Given the description of an element on the screen output the (x, y) to click on. 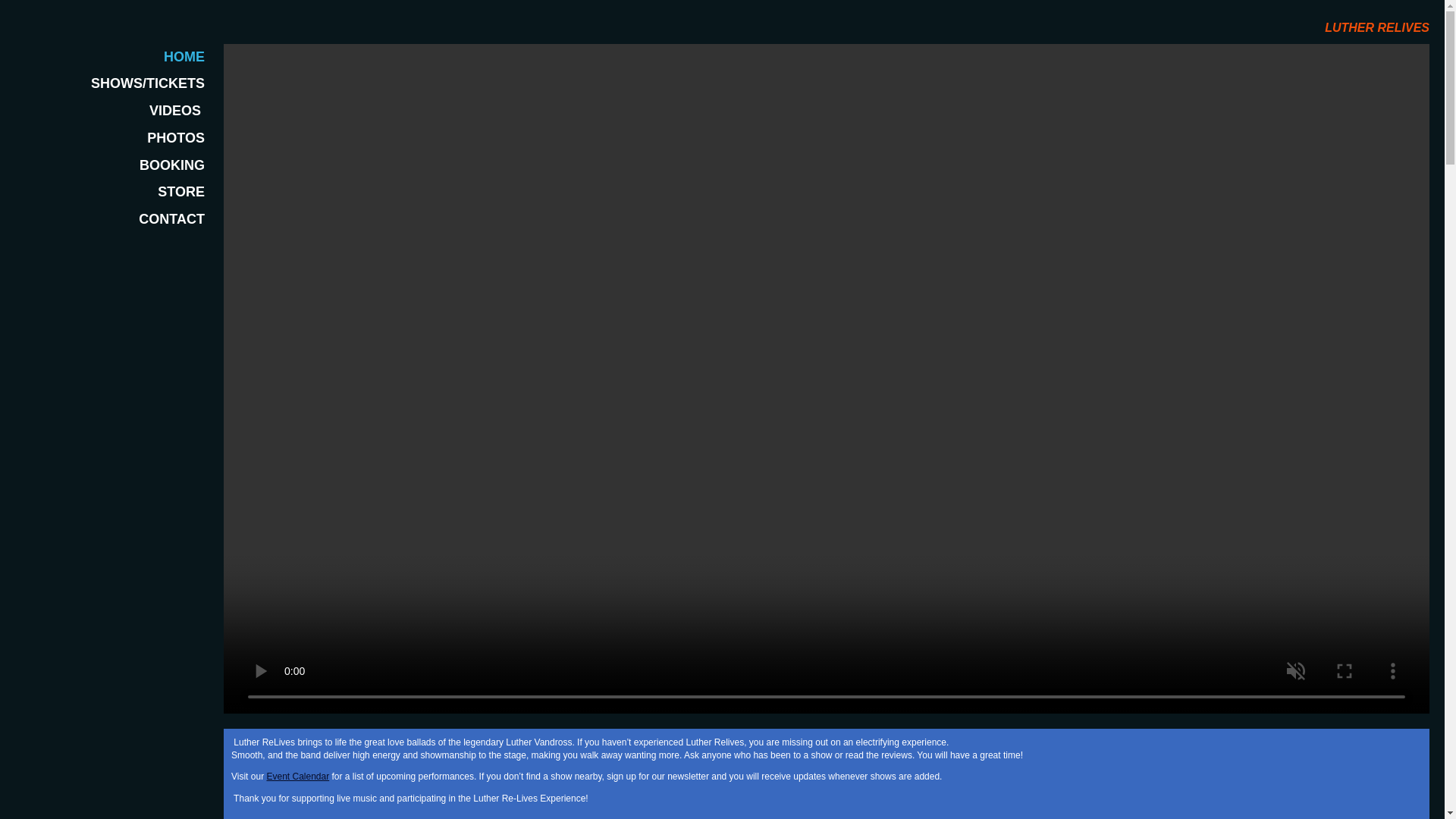
STORE (111, 192)
LUTHER RELIVES (1376, 25)
CONTACT (111, 219)
VIDEOS  (111, 111)
Event Calendar (297, 776)
BOOKING (111, 165)
PHOTOS (111, 138)
HOME (111, 57)
